Given the description of an element on the screen output the (x, y) to click on. 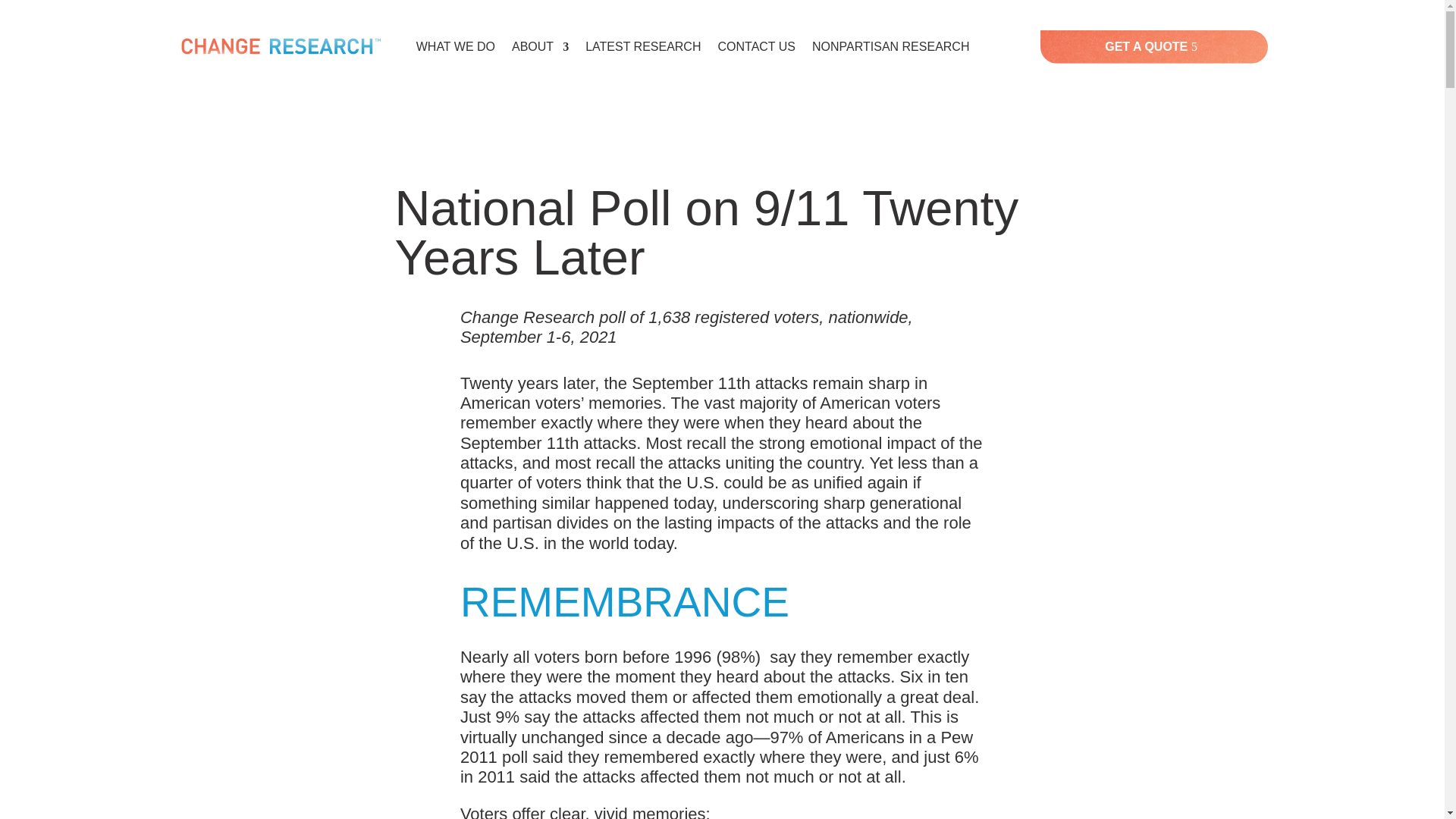
ABOUT (540, 47)
NONPARTISAN RESEARCH (890, 47)
CONTACT US (755, 47)
LATEST RESEARCH (642, 47)
GET A QUOTE (1154, 46)
WHAT WE DO (455, 47)
